Given the description of an element on the screen output the (x, y) to click on. 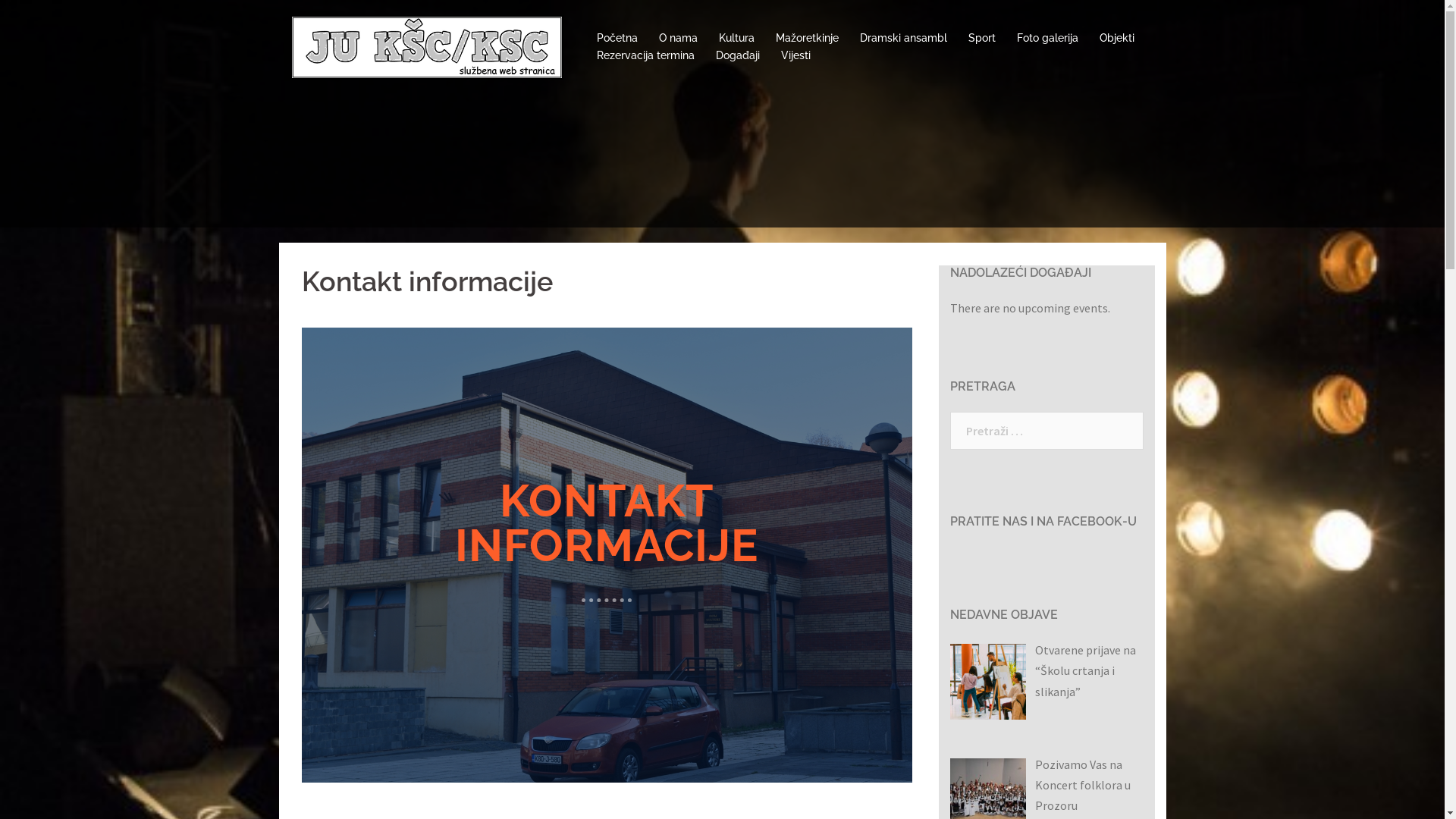
Pretraga Element type: text (52, 18)
Pozivamo Vas na Koncert folklora u Prozoru Element type: text (1081, 784)
Rezervacija termina Element type: text (644, 56)
Kultura Element type: text (736, 37)
O nama Element type: text (677, 37)
Foto galerija Element type: text (1046, 37)
Objekti Element type: text (1116, 37)
Dramski ansambl Element type: text (903, 37)
Sport Element type: text (980, 37)
Vijesti Element type: text (795, 56)
